Given the description of an element on the screen output the (x, y) to click on. 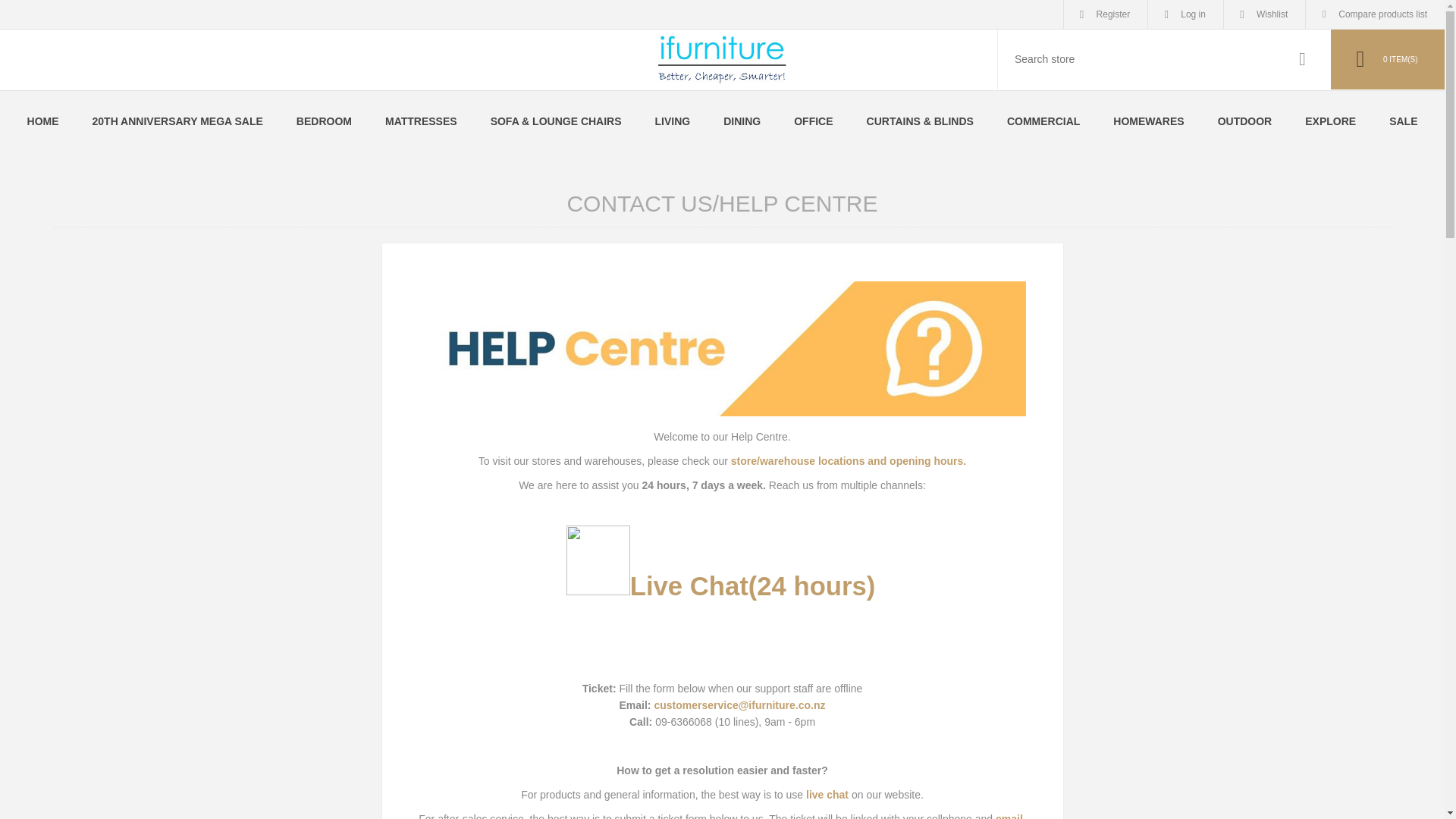
HOME (42, 120)
Home (42, 120)
Mattresses (421, 120)
Wishlist (1264, 14)
MATTRESSES (421, 120)
Search (1302, 59)
Register (1106, 14)
LIVING (673, 120)
BEDROOM (323, 120)
Log in (1185, 14)
